Given the description of an element on the screen output the (x, y) to click on. 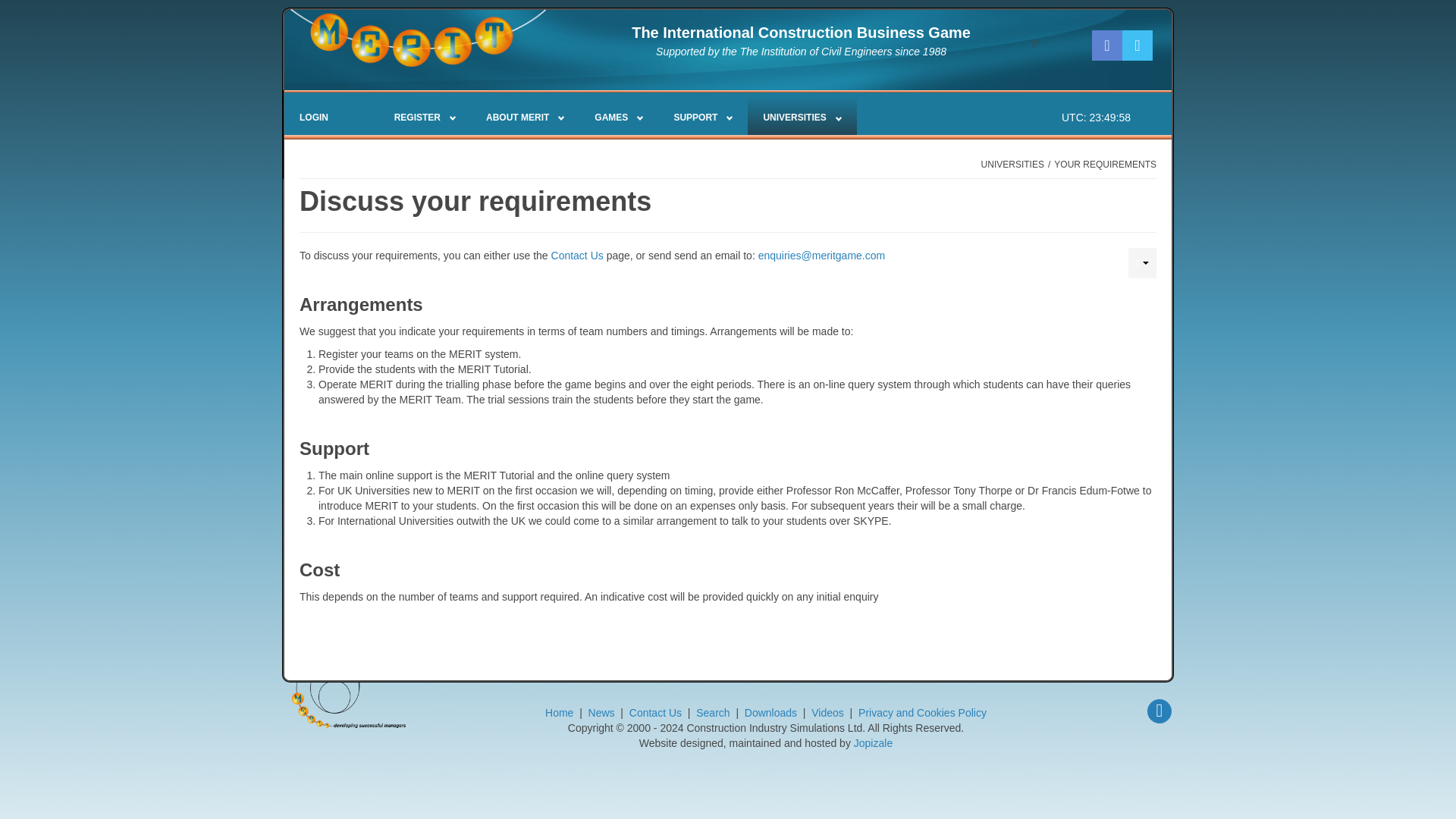
Goto Top (1159, 711)
UNIVERSITIES (802, 115)
GAMES (618, 118)
SUPPORT (703, 118)
ABOUT MERIT (524, 118)
REGISTER (424, 118)
LOGIN (313, 118)
